Given the description of an element on the screen output the (x, y) to click on. 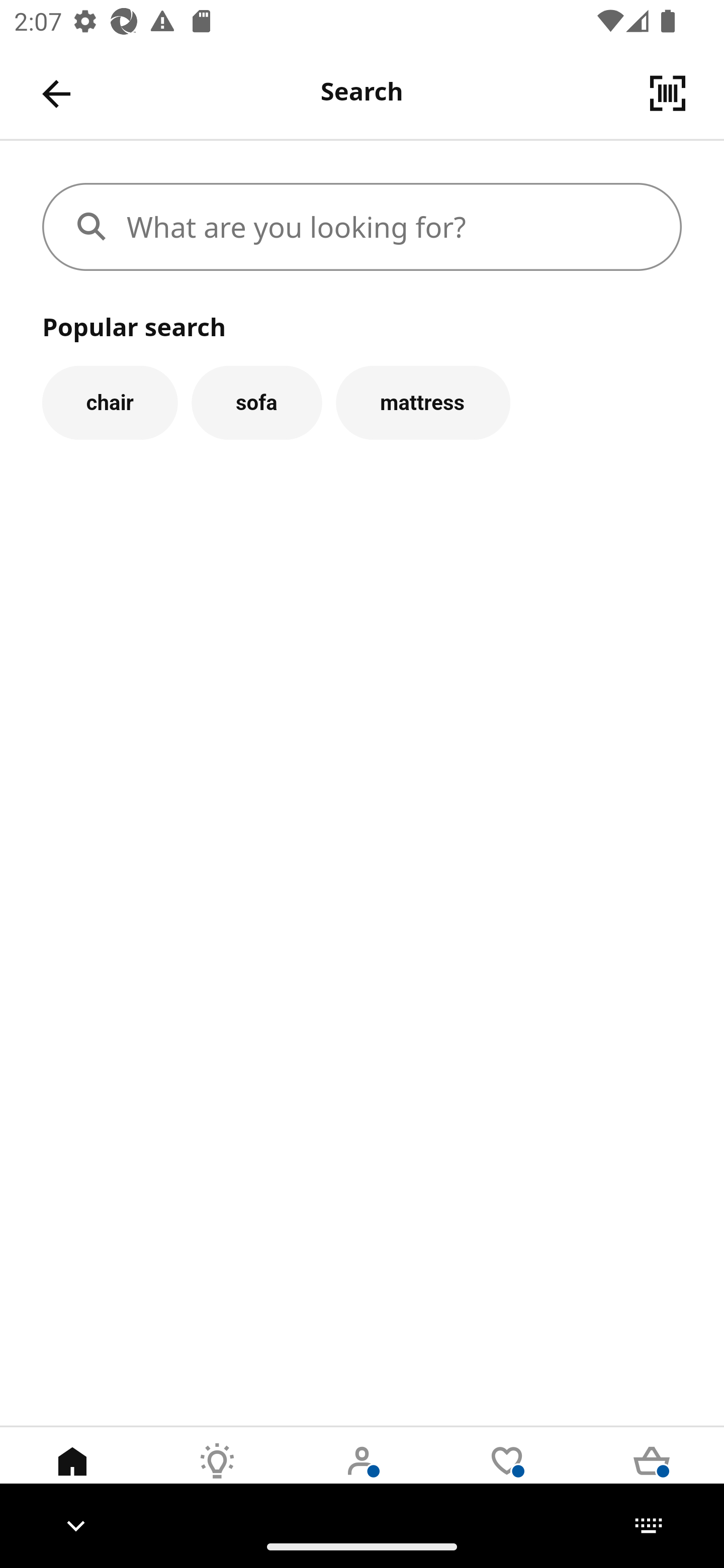
chair (109, 402)
sofa (256, 402)
mattress (423, 402)
Home
Tab 1 of 5 (72, 1476)
Inspirations
Tab 2 of 5 (216, 1476)
User
Tab 3 of 5 (361, 1476)
Wishlist
Tab 4 of 5 (506, 1476)
Cart
Tab 5 of 5 (651, 1476)
